Given the description of an element on the screen output the (x, y) to click on. 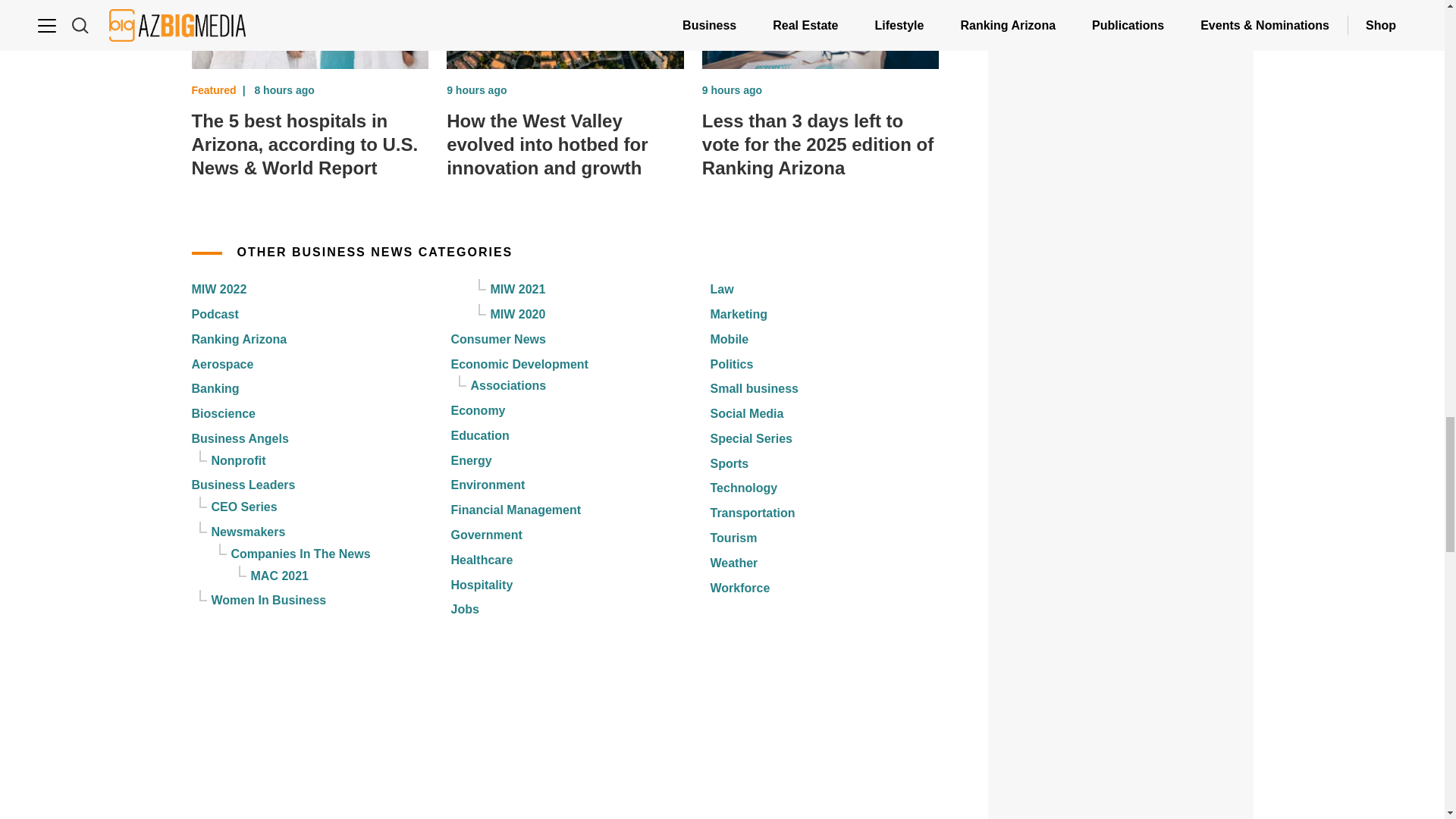
3rd party ad content (1120, 350)
